Given the description of an element on the screen output the (x, y) to click on. 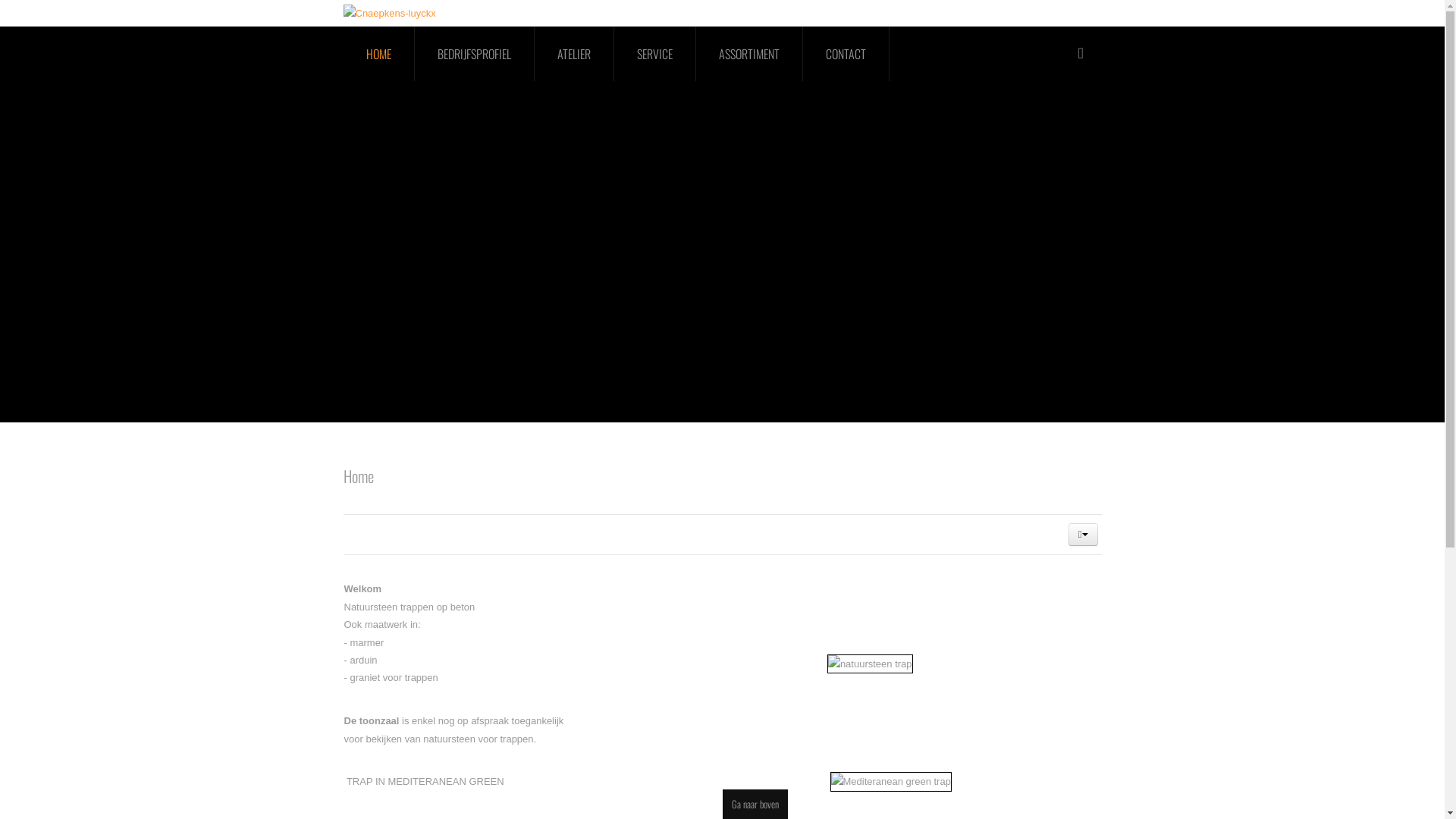
ASSORTIMENT Element type: text (749, 53)
SERVICE Element type: text (655, 53)
BEDRIJFSPROFIEL Element type: text (473, 53)
CONTACT Element type: text (845, 53)
ATELIER Element type: text (573, 53)
HOME Element type: text (378, 53)
